Given the description of an element on the screen output the (x, y) to click on. 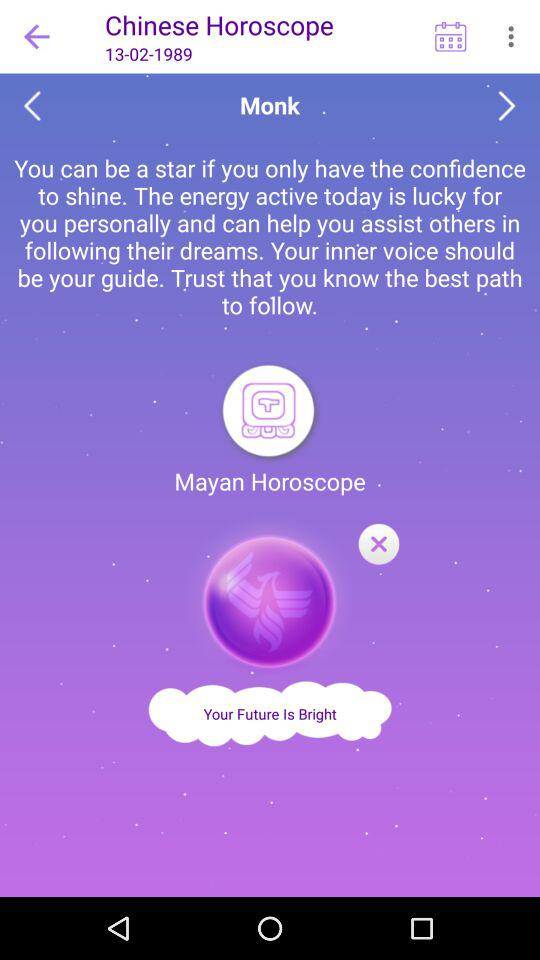
close symbol (269, 595)
